Given the description of an element on the screen output the (x, y) to click on. 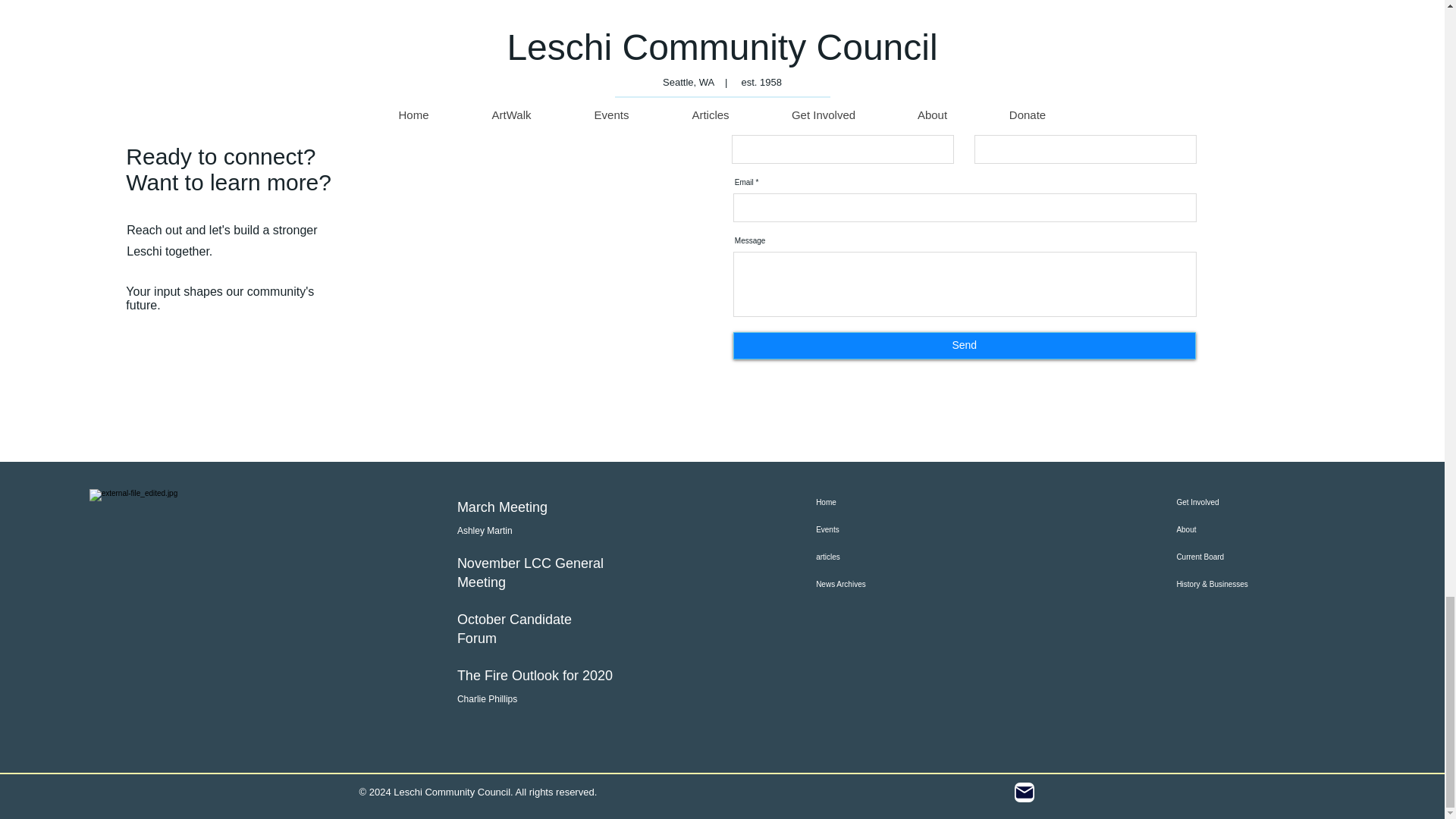
Ashley Martin (484, 530)
Charlie Phillips (486, 698)
art reviews (815, 2)
